Given the description of an element on the screen output the (x, y) to click on. 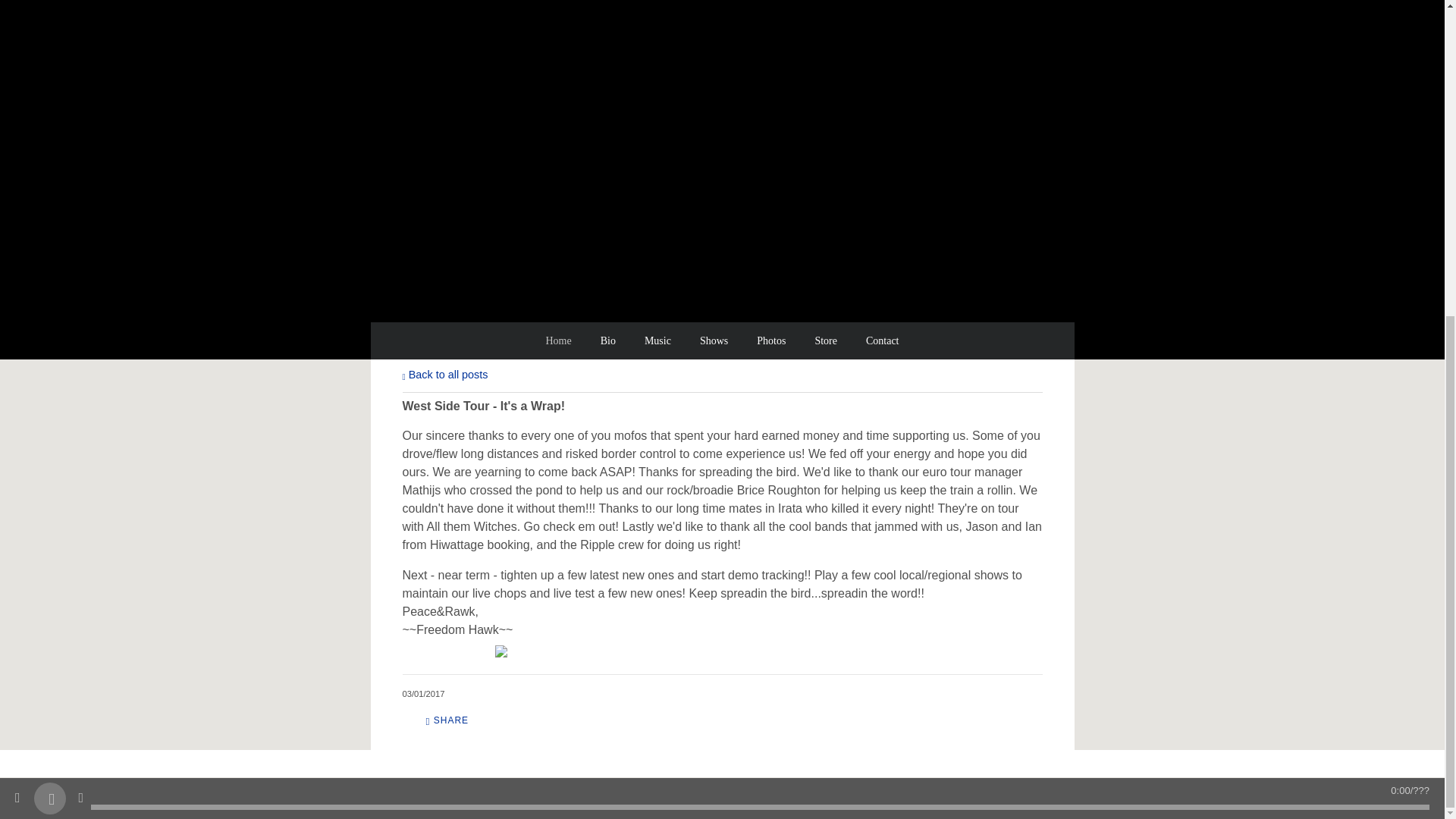
Back to all posts (444, 374)
Home (557, 340)
Share West Side Tour - It's a Wrap! (447, 720)
Photos (770, 340)
Music (657, 340)
SHARE (447, 720)
Contact (883, 340)
Shows (713, 340)
March 01, 2017 16:19 (422, 693)
Bio (607, 340)
